Given the description of an element on the screen output the (x, y) to click on. 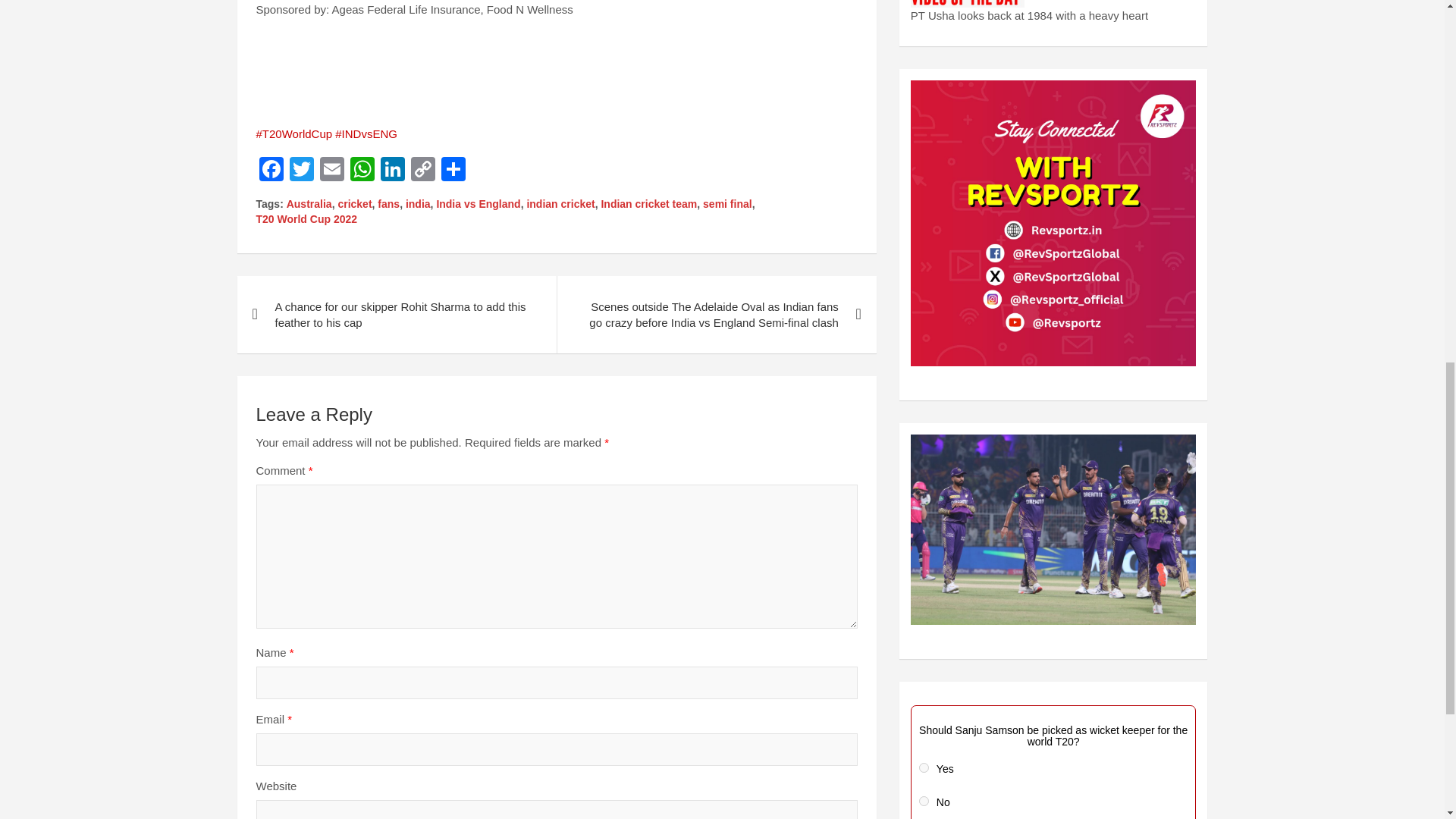
30 (923, 800)
29 (923, 767)
LinkedIn (392, 171)
WhatsApp (362, 171)
Facebook (271, 171)
Twitter (301, 171)
Email (332, 171)
